Given the description of an element on the screen output the (x, y) to click on. 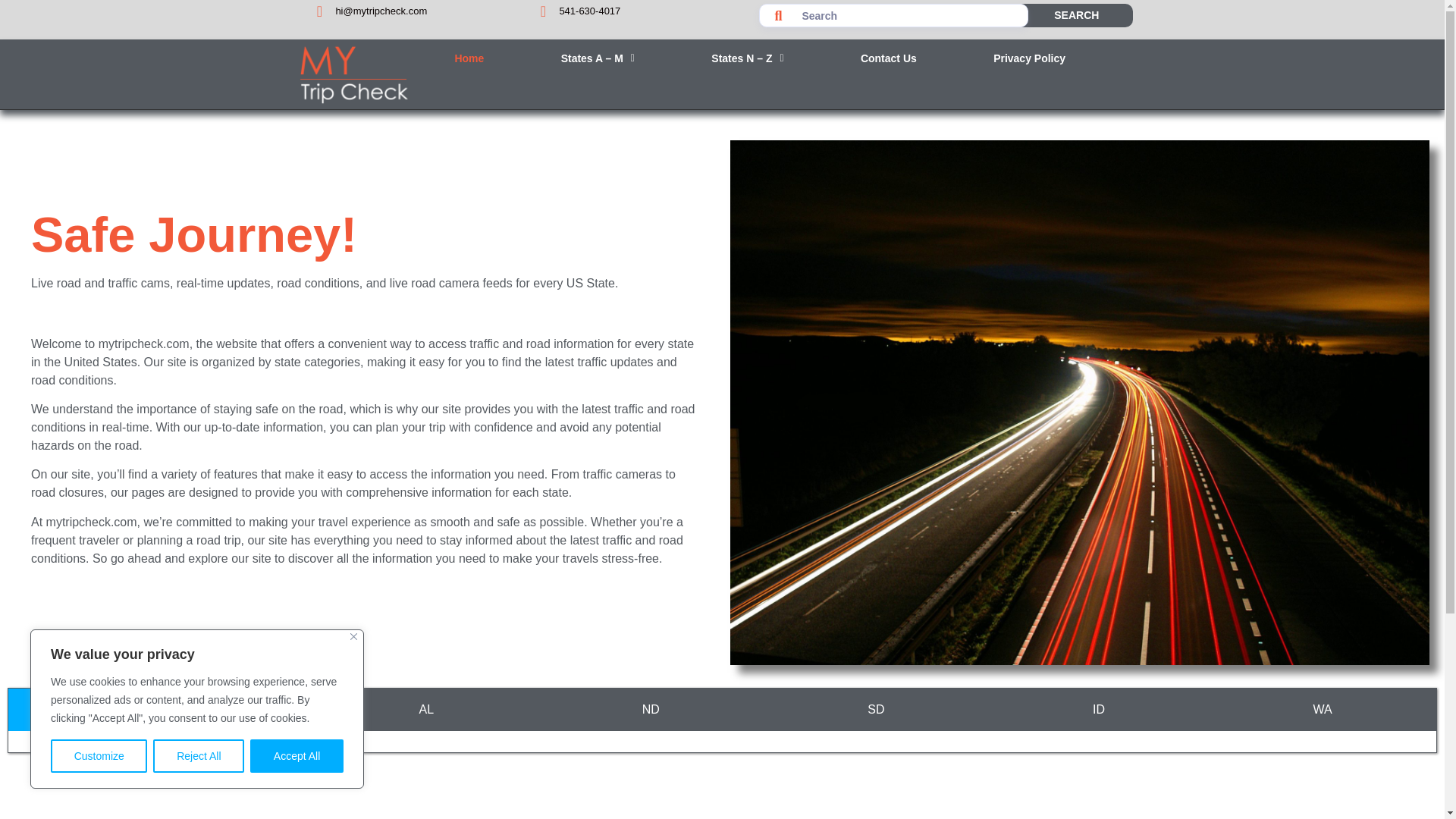
Customize (98, 756)
Home (469, 57)
SEARCH (1076, 15)
Accept All (296, 756)
Reject All (198, 756)
usa (722, 793)
